Given the description of an element on the screen output the (x, y) to click on. 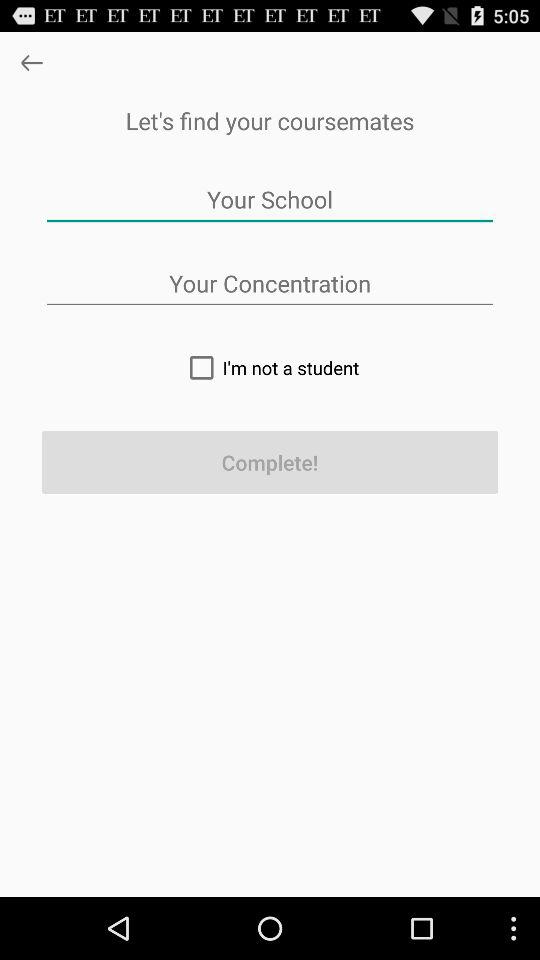
press app above the let s find icon (31, 62)
